Given the description of an element on the screen output the (x, y) to click on. 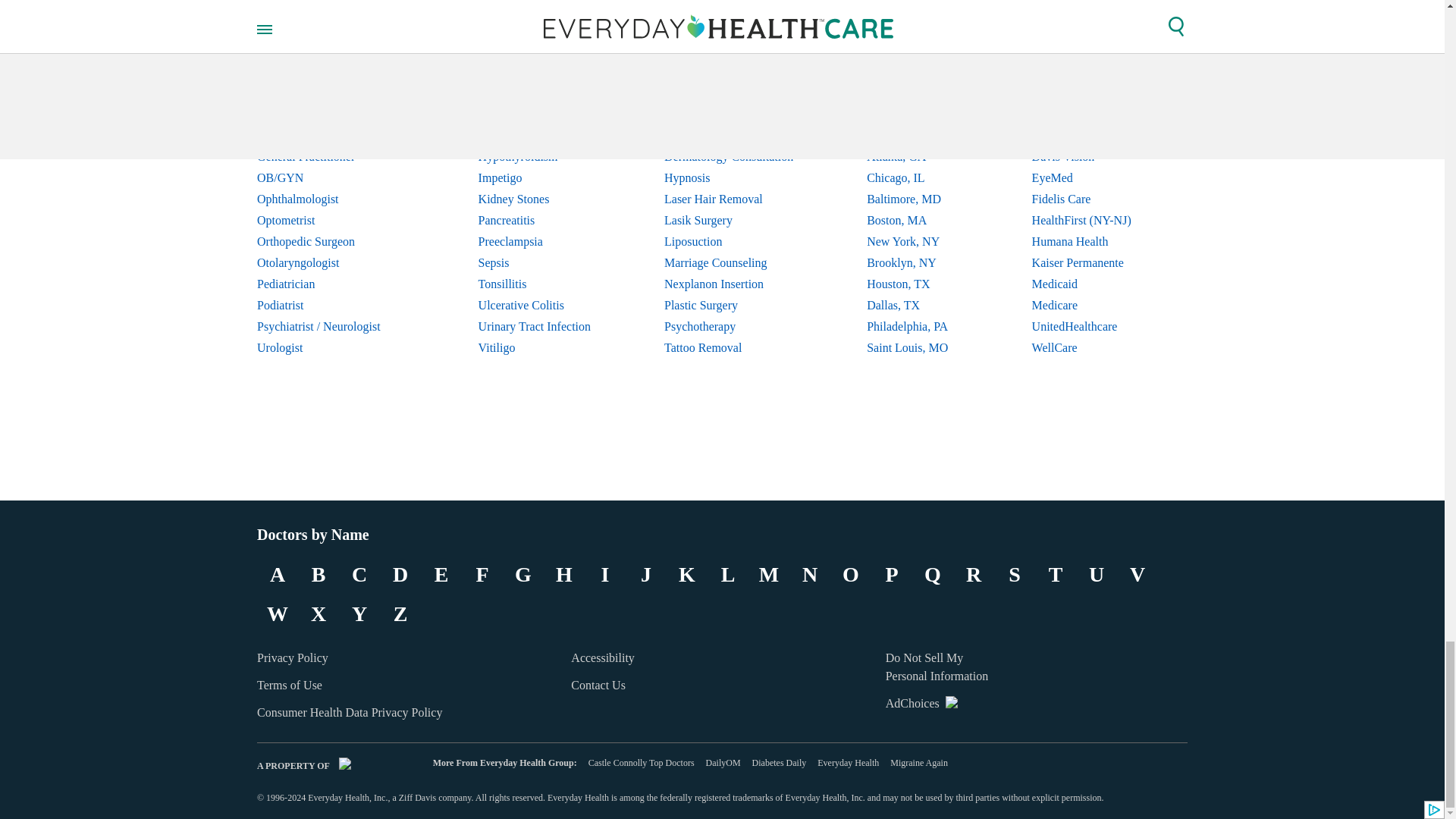
Dermatologist (330, 93)
Gastroenterologist (330, 135)
General Practitioner (330, 156)
Cardiologist (330, 71)
Endocrinologist (330, 114)
Addiction Medicine Specialist (330, 50)
